Given the description of an element on the screen output the (x, y) to click on. 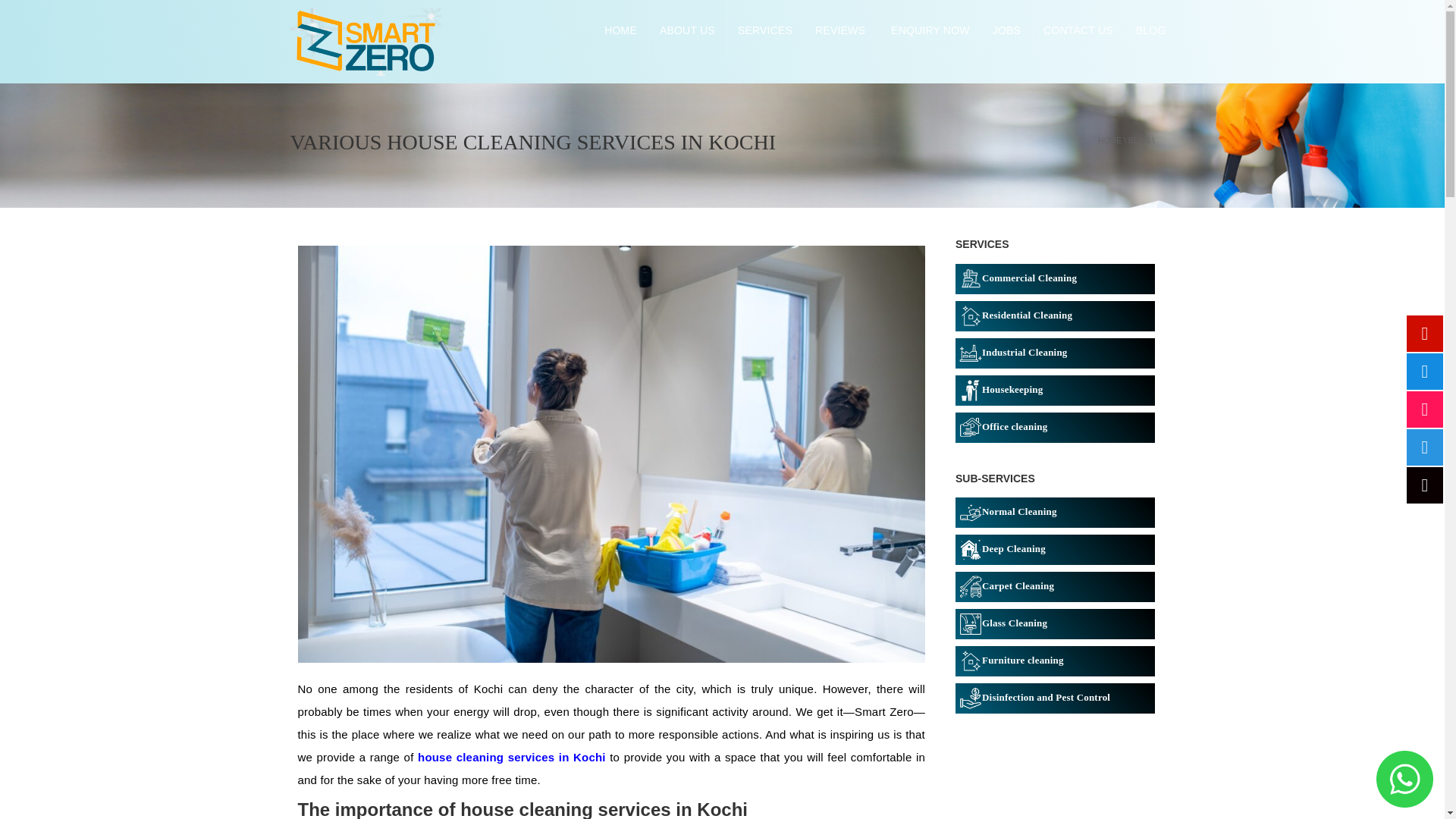
SERVICES (764, 30)
house cleaning services in Kochi (511, 757)
ABOUT US (686, 30)
 ENQUIRY NOW (928, 30)
BLOG (1139, 140)
Normal Cleaning (1054, 512)
Housekeeping (1054, 389)
Commercial Cleaning (1054, 278)
Residential Cleaning (1054, 315)
Deep Cleaning (1054, 549)
Industrial Cleaning (1054, 353)
HOME (619, 30)
REVIEWS (839, 30)
Various house cleaning services in Kochi - SMARTZERO (365, 40)
Office cleaning (1054, 427)
